Given the description of an element on the screen output the (x, y) to click on. 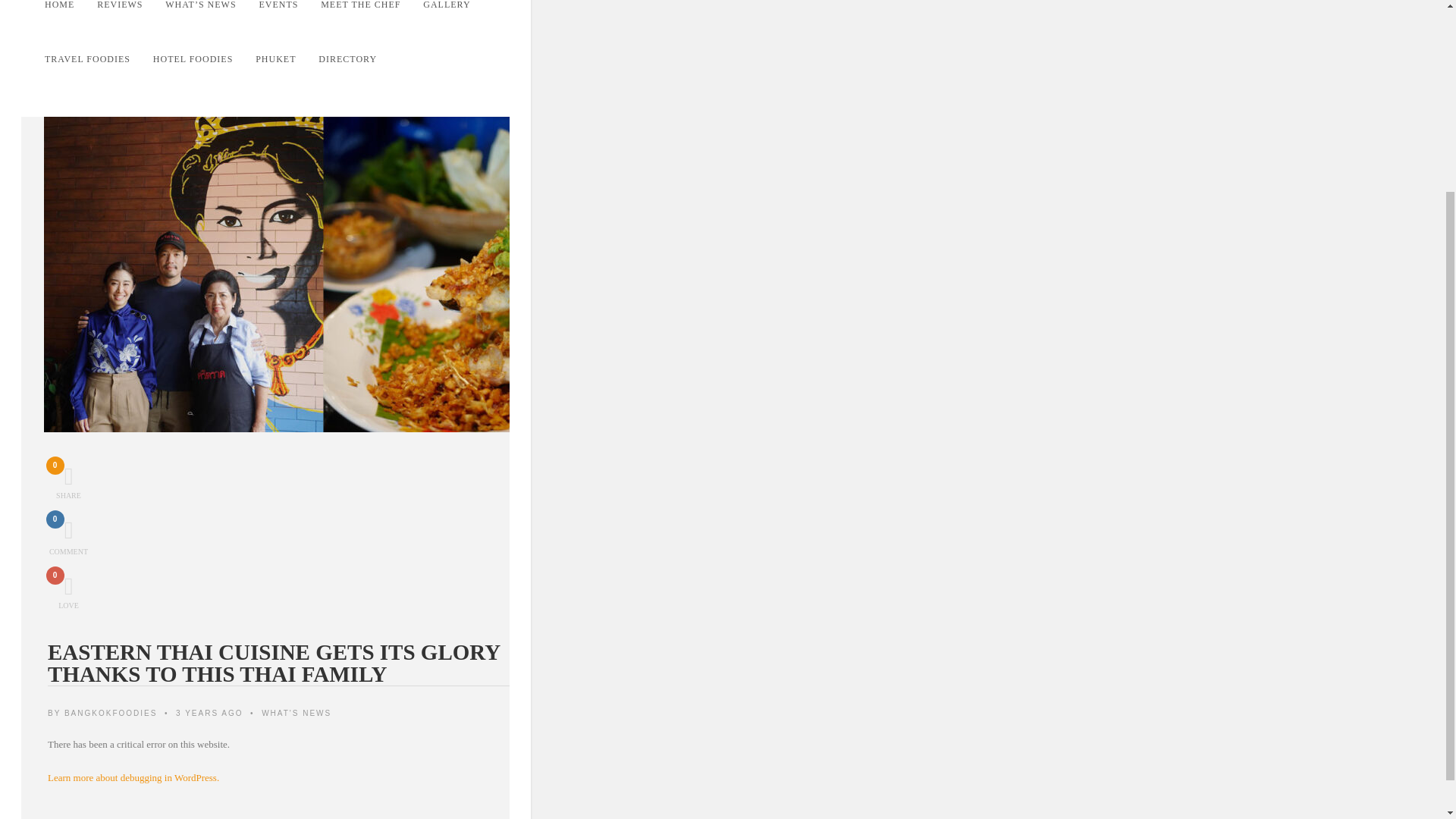
MEET THE CHEF (371, 15)
More What's News Posts (296, 713)
EVENTS (289, 15)
TRAVEL FOODIES (67, 481)
GALLERY (98, 58)
HOME (457, 15)
HOTEL FOODIES (70, 15)
DIRECTORY (203, 58)
Posts by BangkokFoodies (358, 58)
REVIEWS (110, 713)
PHUKET (130, 15)
